Given the description of an element on the screen output the (x, y) to click on. 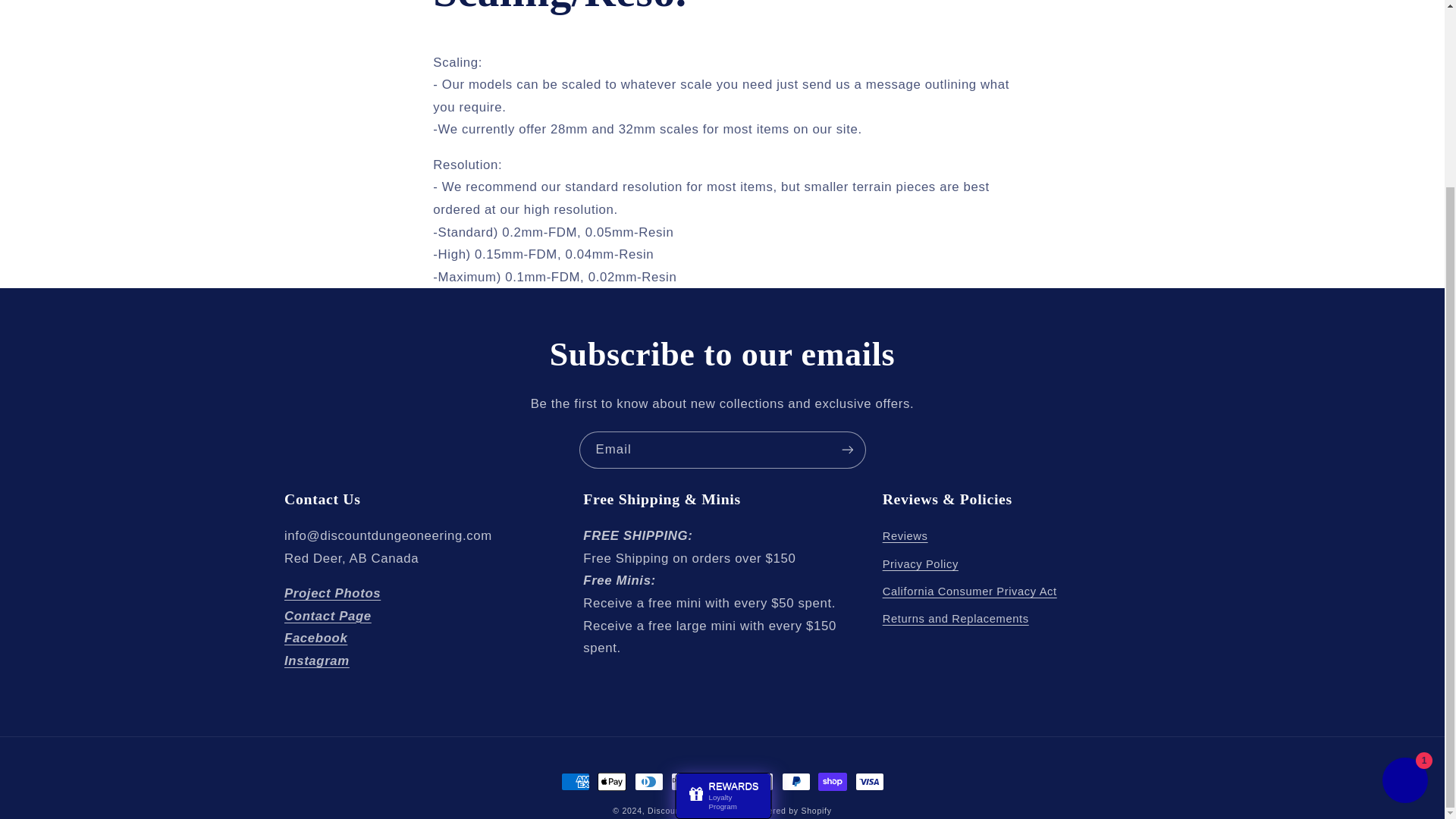
Shopify online store chat (1404, 549)
